Given the description of an element on the screen output the (x, y) to click on. 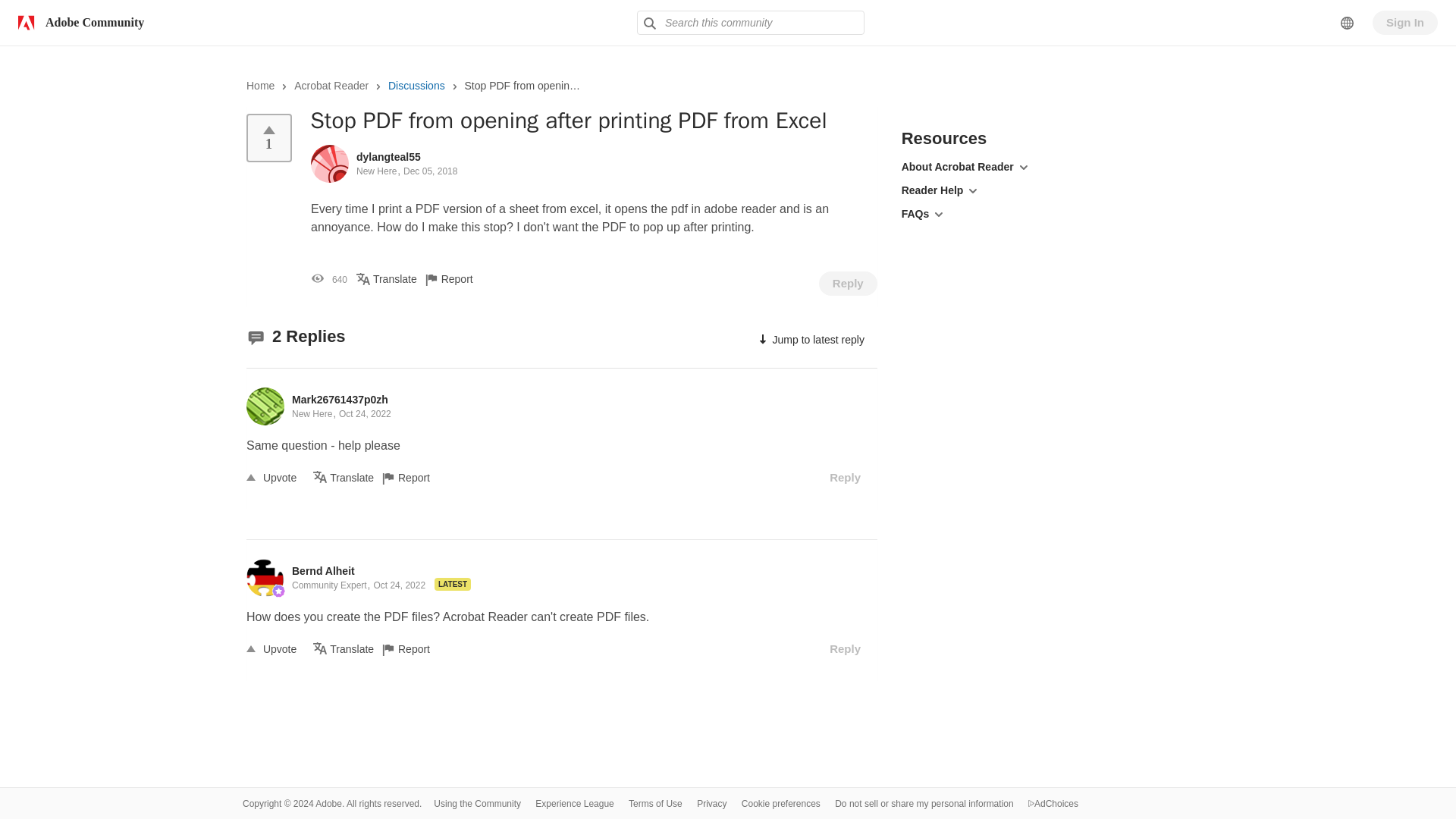
Search (649, 22)
Discussions (416, 85)
Mark26761437p0zh (340, 398)
SignIn (1405, 22)
Sign In (1405, 22)
Search (649, 22)
Report (416, 477)
Search (649, 22)
Reply (847, 283)
Adobe Community (77, 22)
Home (260, 85)
Search (750, 22)
Jump to latest reply (809, 339)
dylangteal55 (388, 155)
Adobe Community (77, 22)
